Given the description of an element on the screen output the (x, y) to click on. 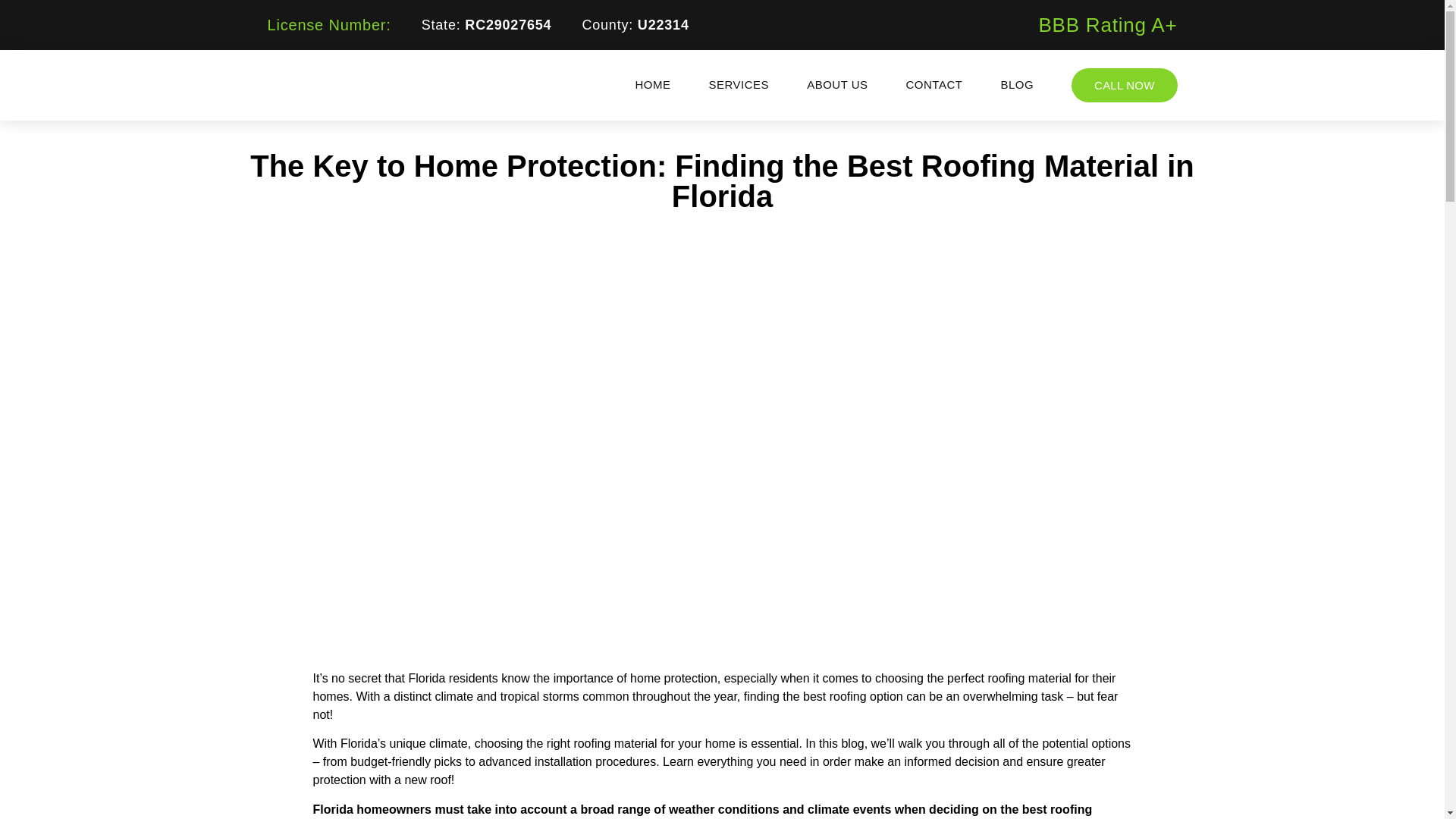
CONTACT (934, 84)
HOME (652, 84)
CALL NOW (1123, 84)
SERVICES (739, 84)
ABOUT US (837, 84)
BLOG (1016, 84)
